Given the description of an element on the screen output the (x, y) to click on. 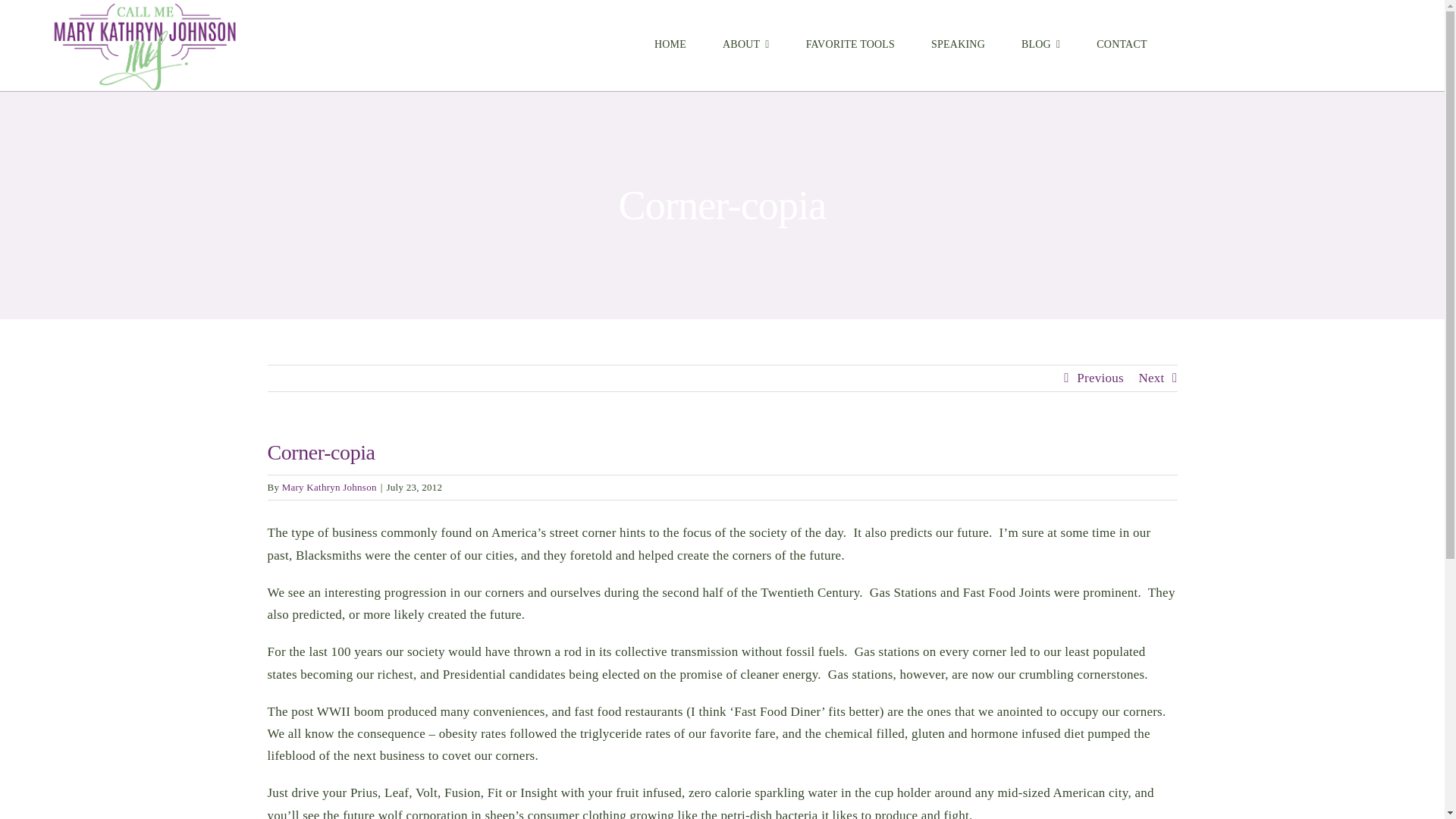
ABOUT (745, 45)
BLOG (1040, 45)
HOME (670, 45)
Next (1150, 378)
Previous (1100, 378)
Posts by Mary Kathryn Johnson (329, 487)
Mary Kathryn Johnson (329, 487)
SPEAKING (957, 45)
CONTACT (1121, 45)
FAVORITE TOOLS (849, 45)
